Given the description of an element on the screen output the (x, y) to click on. 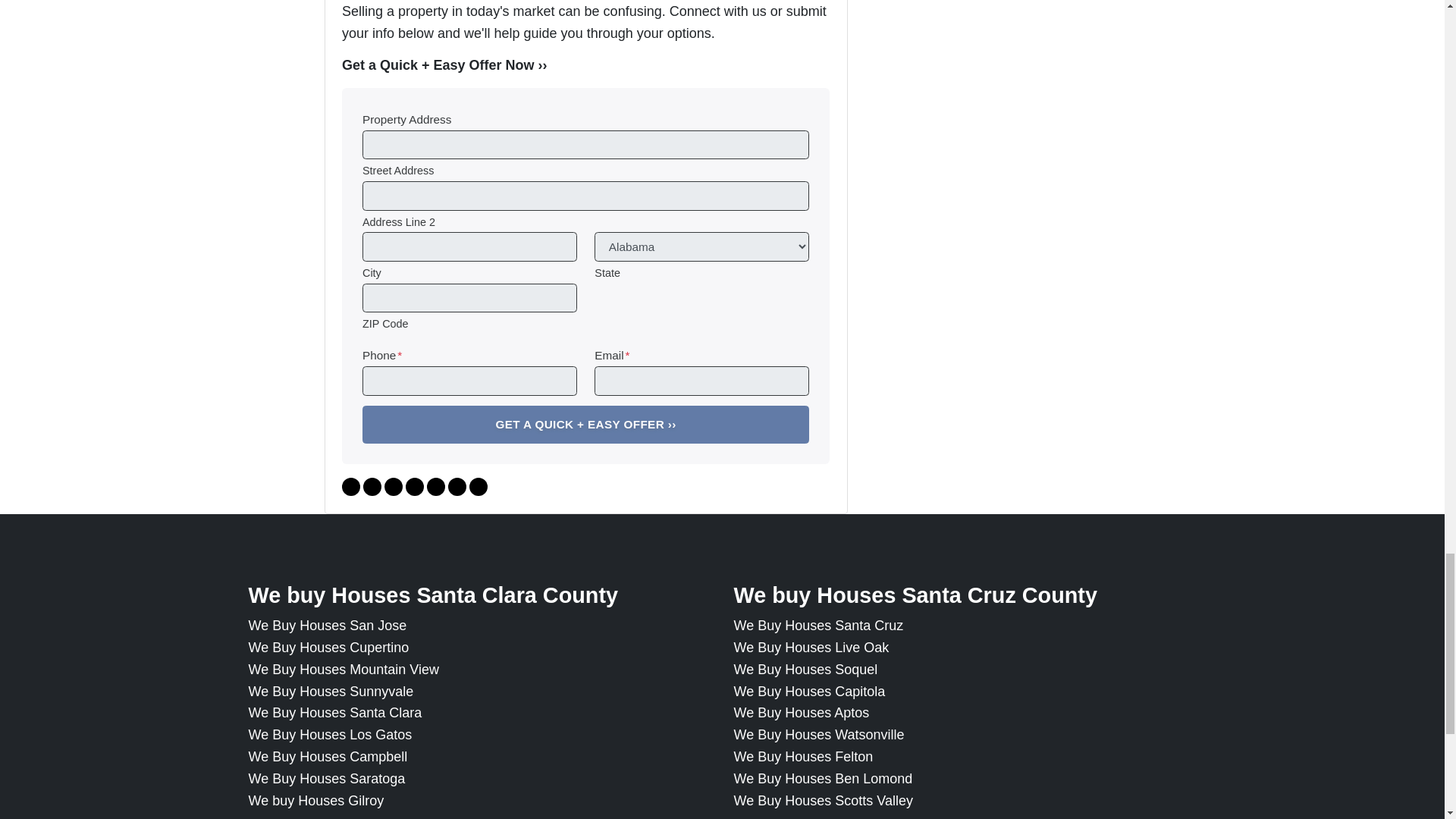
YouTube (371, 486)
Facebook (350, 486)
Zillow (435, 486)
Instagram (414, 486)
LinkedIn (393, 486)
